Given the description of an element on the screen output the (x, y) to click on. 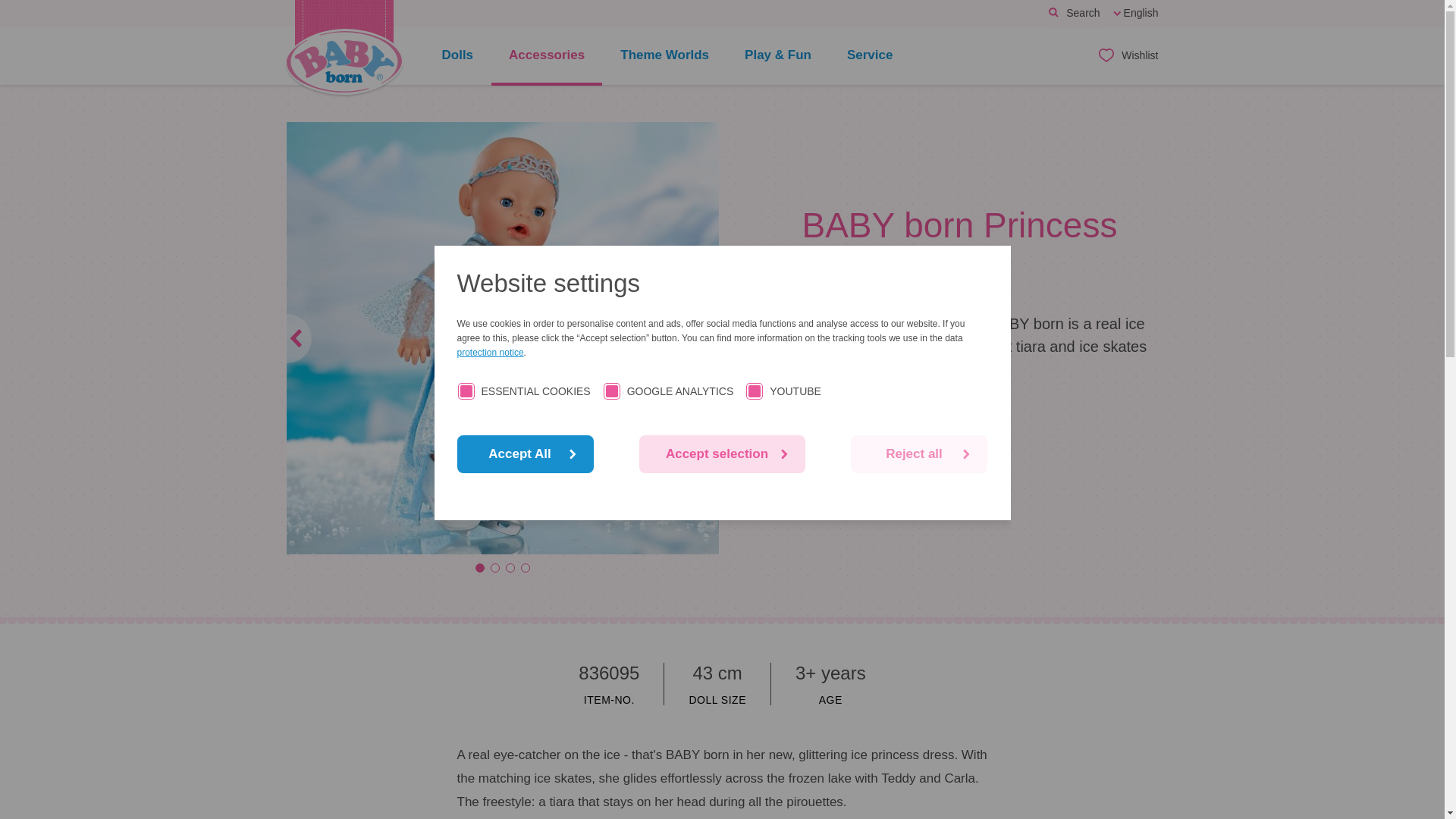
Search (1074, 13)
Theme Worlds (664, 56)
Dolls (458, 56)
Accessories (547, 56)
